Given the description of an element on the screen output the (x, y) to click on. 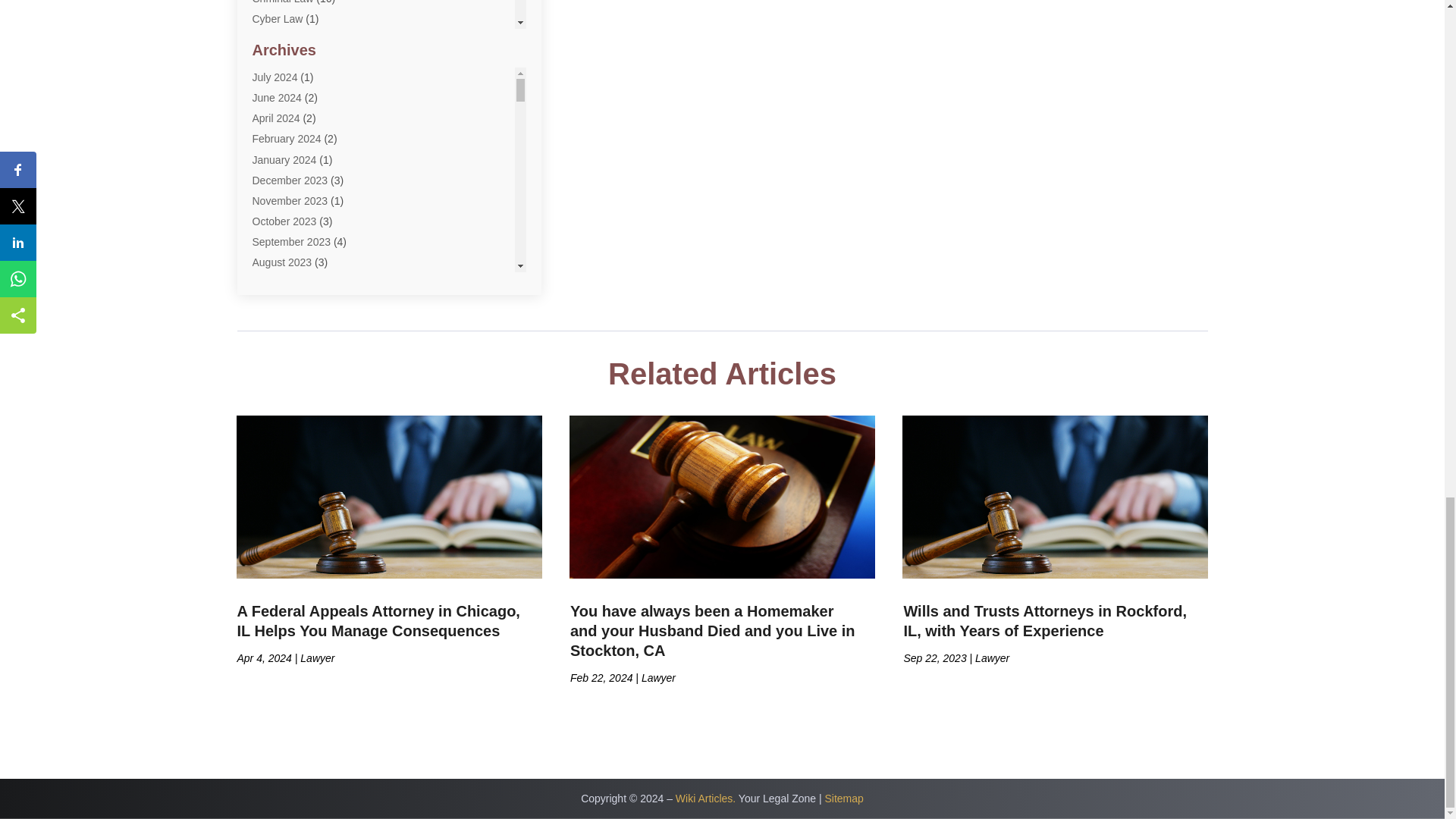
Criminal Law (282, 2)
DWI Lawyers (282, 101)
Dui Law Attorneys (294, 80)
Family Law (278, 143)
Divorce Lawyer (287, 39)
Cyber Law (276, 19)
General (270, 163)
Employment Law (292, 121)
Divorce Service (288, 60)
